Given the description of an element on the screen output the (x, y) to click on. 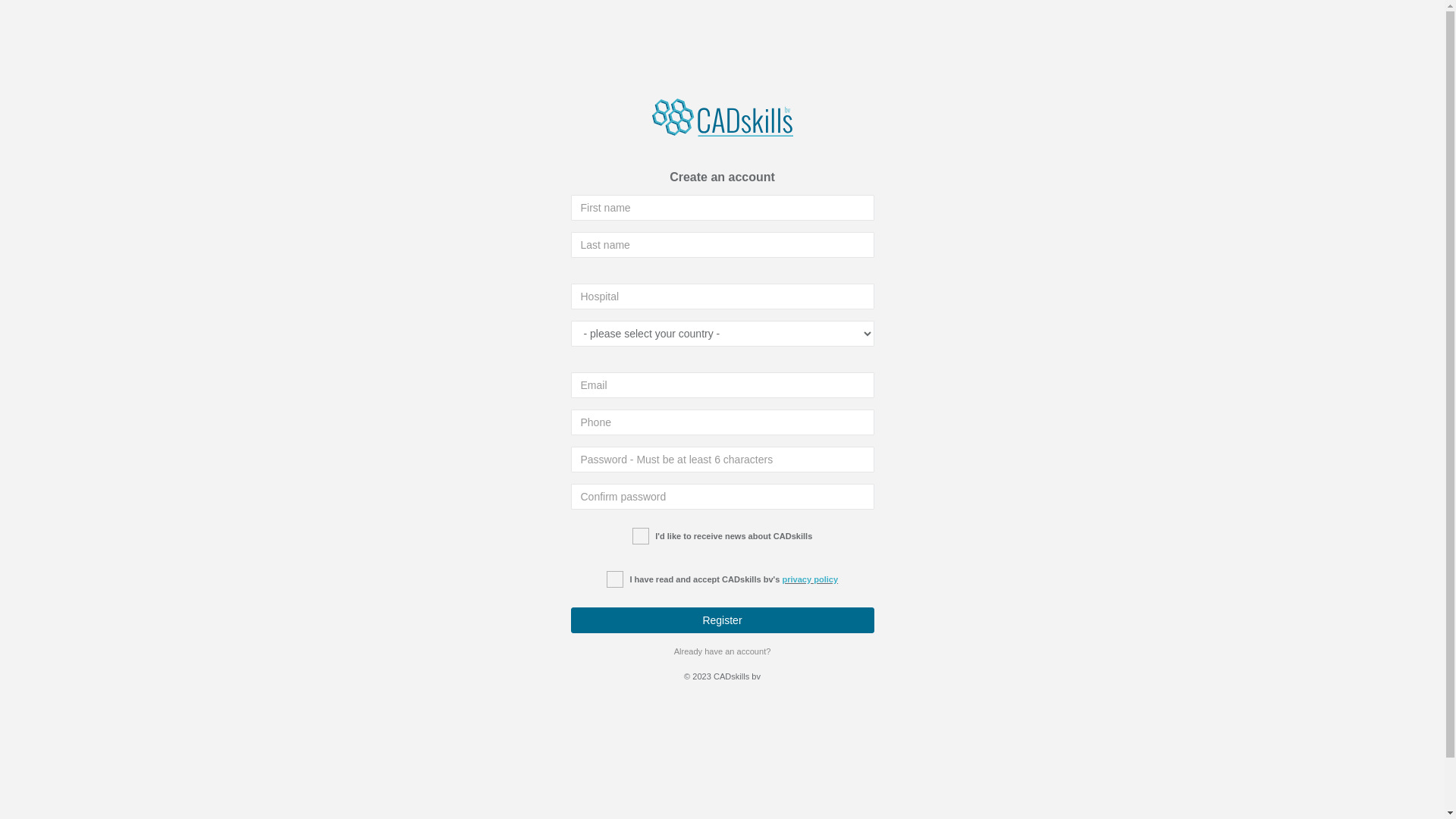
Already have an account? Element type: text (722, 650)
privacy policy Element type: text (809, 578)
Register Element type: text (721, 620)
